Given the description of an element on the screen output the (x, y) to click on. 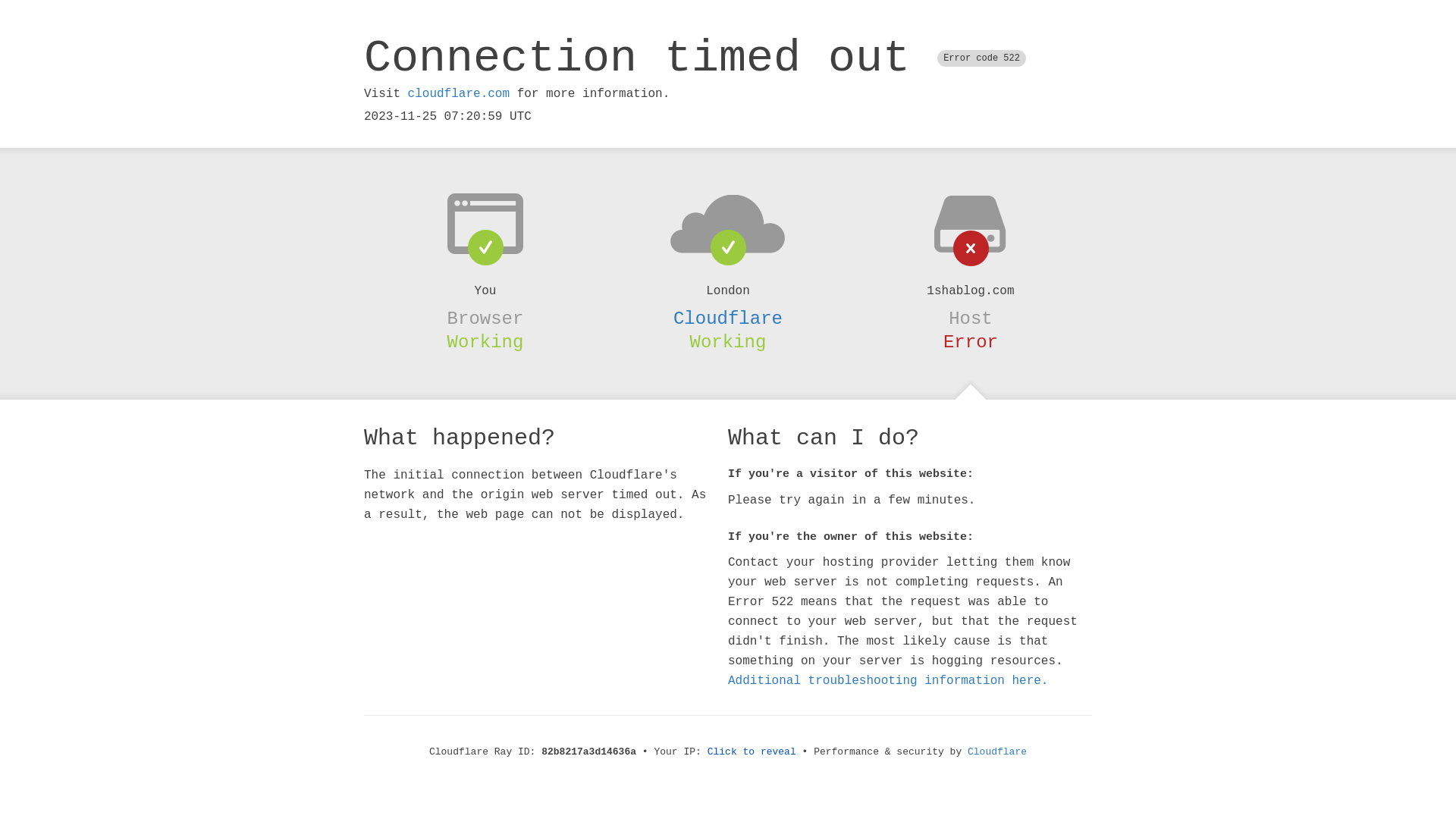
Cloudflare Element type: text (996, 751)
Cloudflare Element type: text (727, 318)
Click to reveal Element type: text (751, 751)
cloudflare.com Element type: text (458, 93)
Additional troubleshooting information here. Element type: text (888, 680)
